Given the description of an element on the screen output the (x, y) to click on. 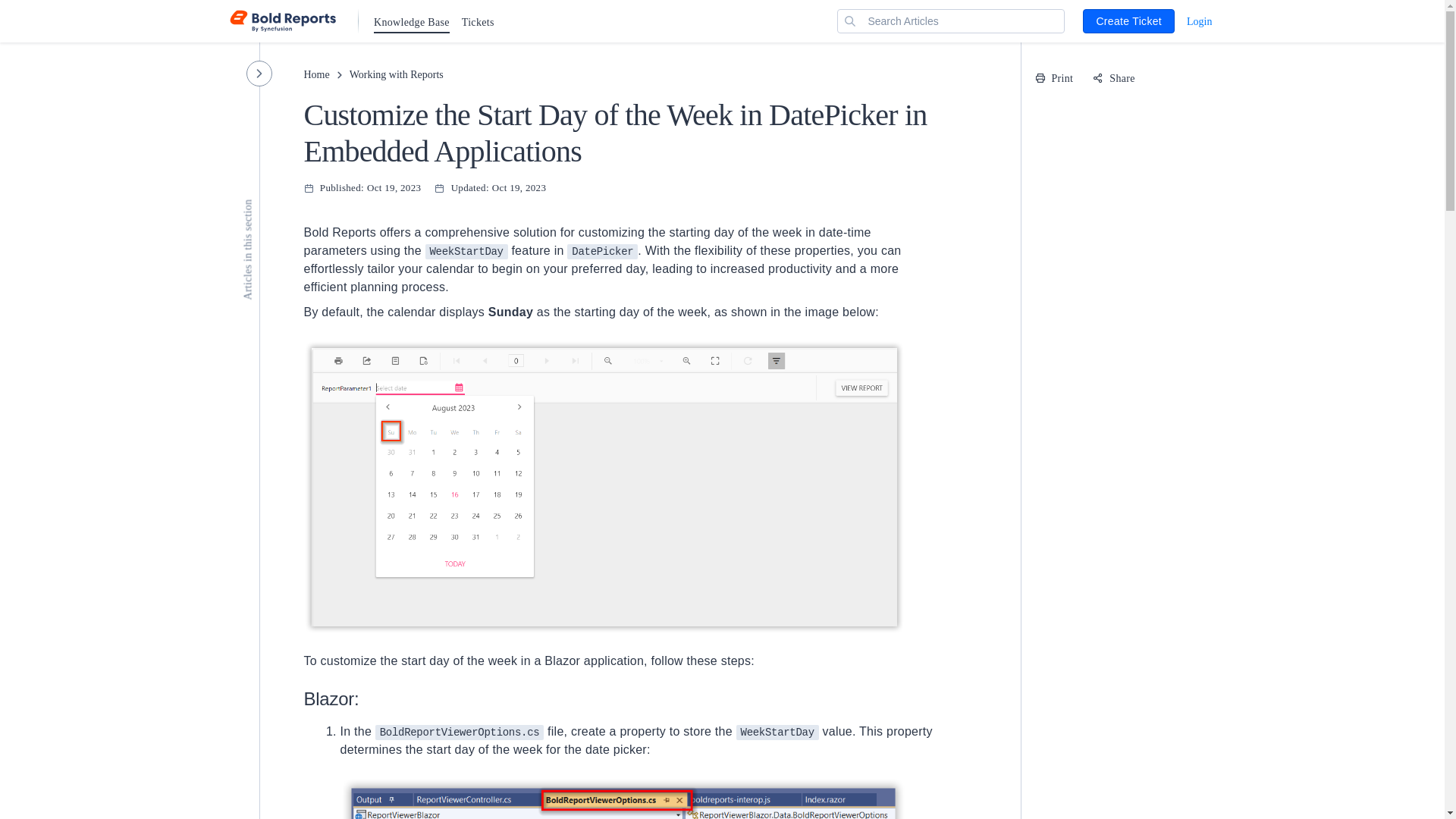
Knowledge Base (411, 20)
Create Ticket (1128, 21)
Working with Reports (396, 76)
Login (1198, 20)
Home (315, 76)
Tickets (478, 20)
